Given the description of an element on the screen output the (x, y) to click on. 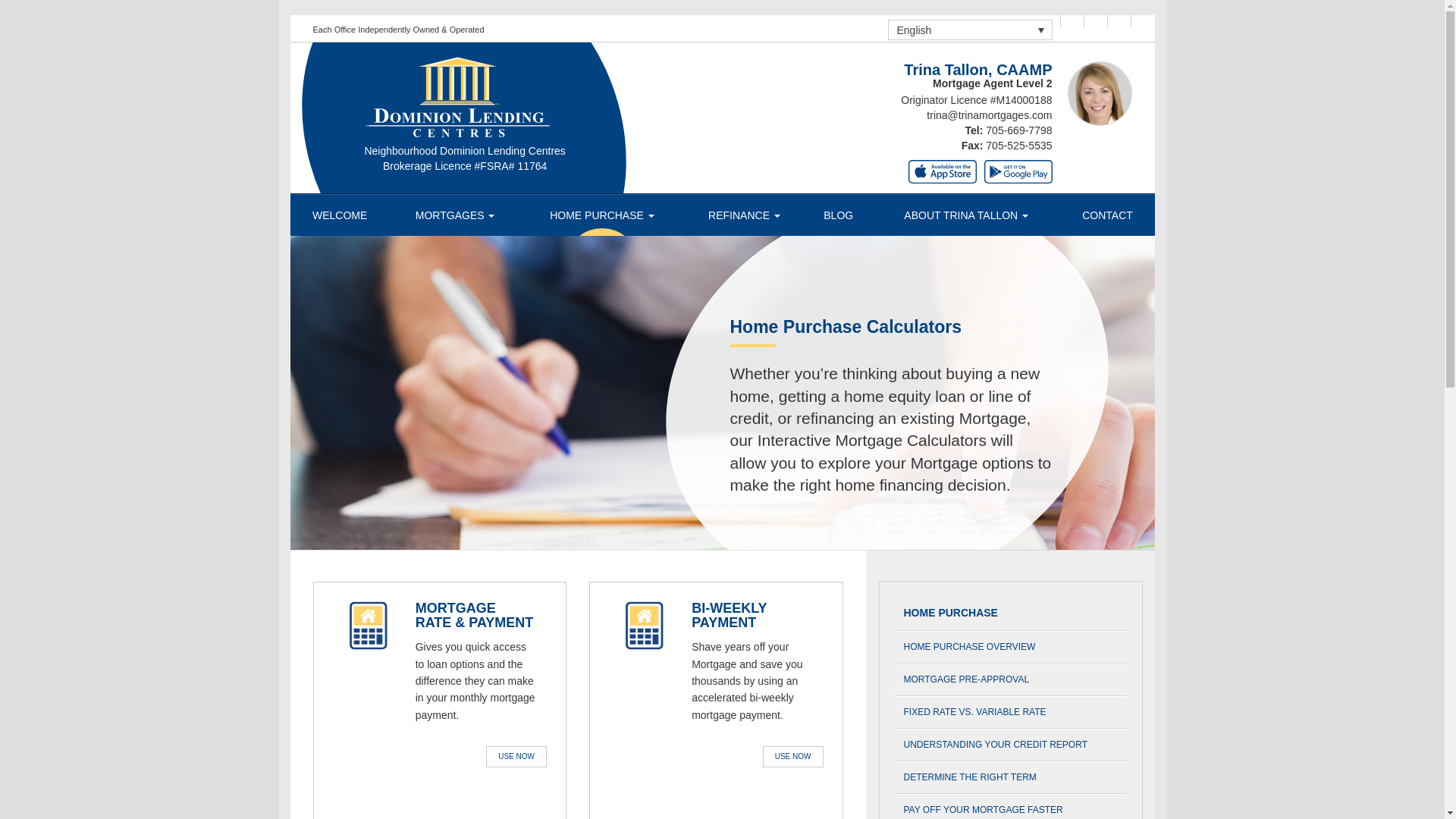
705-669-7798 (1018, 130)
BLOG (838, 214)
705-525-5535 (1018, 145)
WELCOME (338, 214)
ABOUT TRINA TALLON (966, 214)
REFINANCE (743, 214)
HOME PURCHASE (600, 214)
English (970, 29)
MORTGAGES (455, 214)
